Given the description of an element on the screen output the (x, y) to click on. 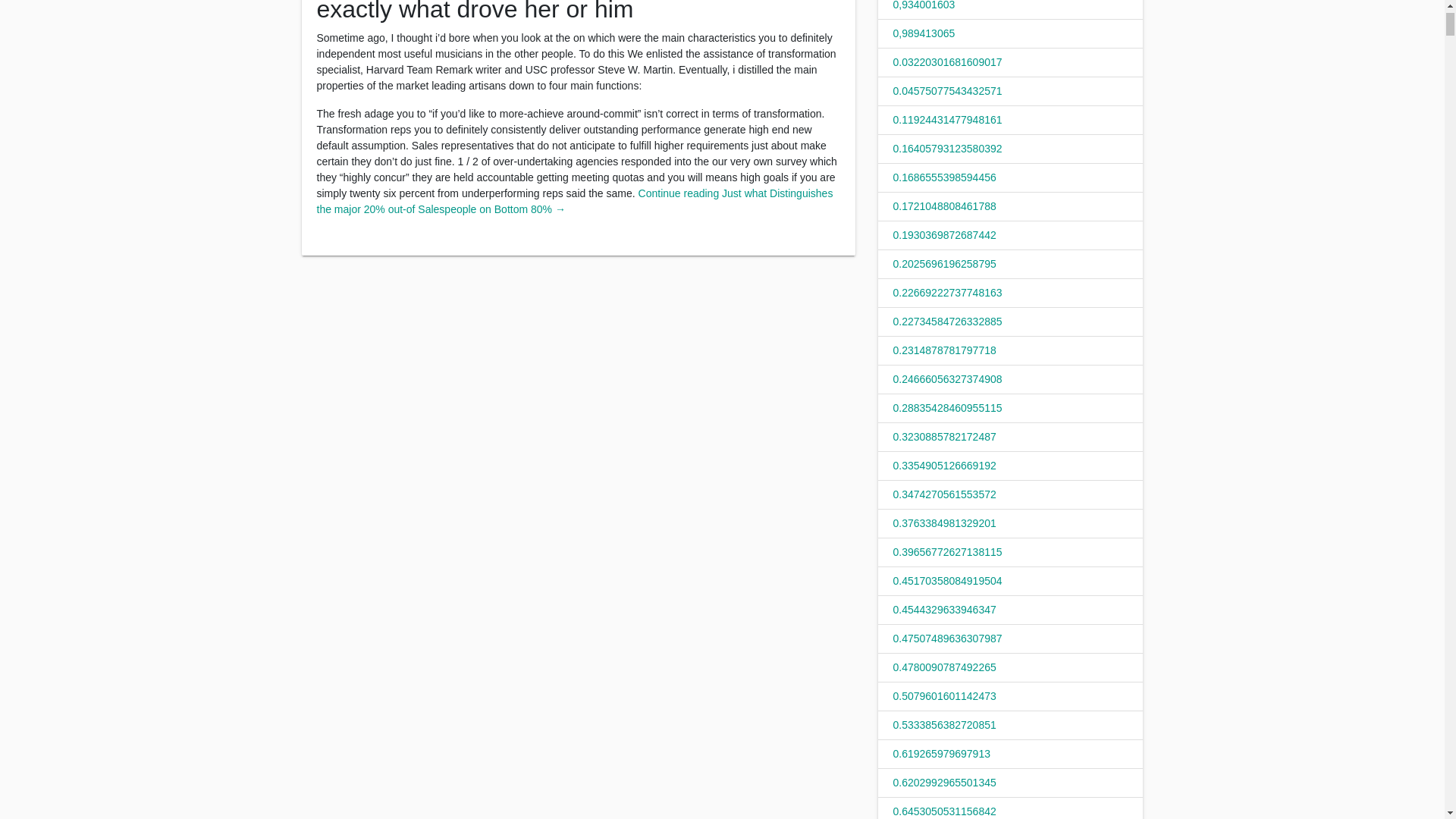
0,934001603 (924, 5)
0.03220301681609017 (948, 61)
0.04575077543432571 (948, 91)
0,989413065 (924, 33)
